Given the description of an element on the screen output the (x, y) to click on. 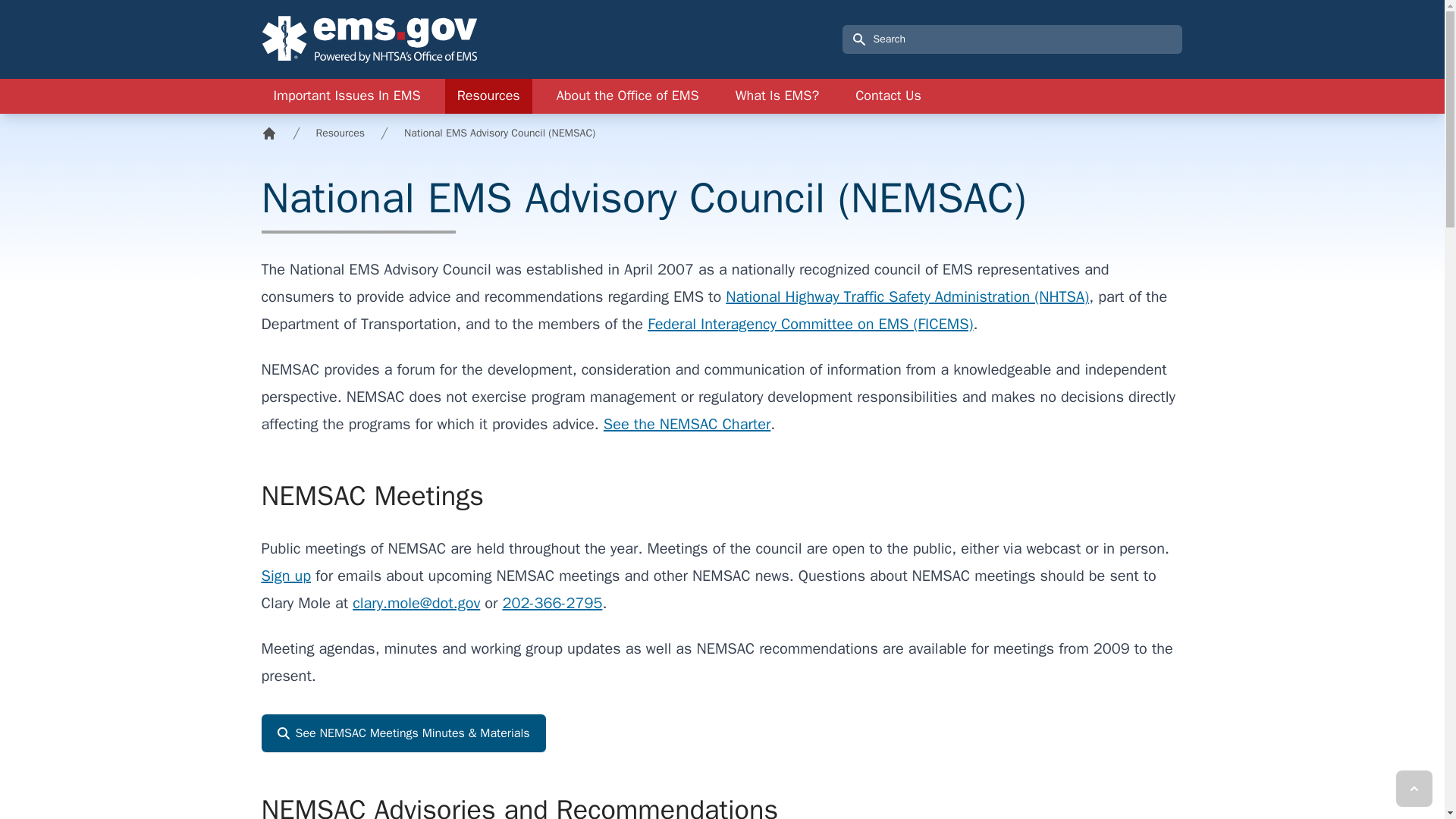
EMS.gov (368, 39)
Resources (488, 95)
Important Issues In EMS (346, 95)
Back to top (1414, 788)
Search (860, 62)
Contact Us (888, 95)
About the Office of EMS (627, 95)
Search (860, 62)
What Is EMS? (777, 95)
